Given the description of an element on the screen output the (x, y) to click on. 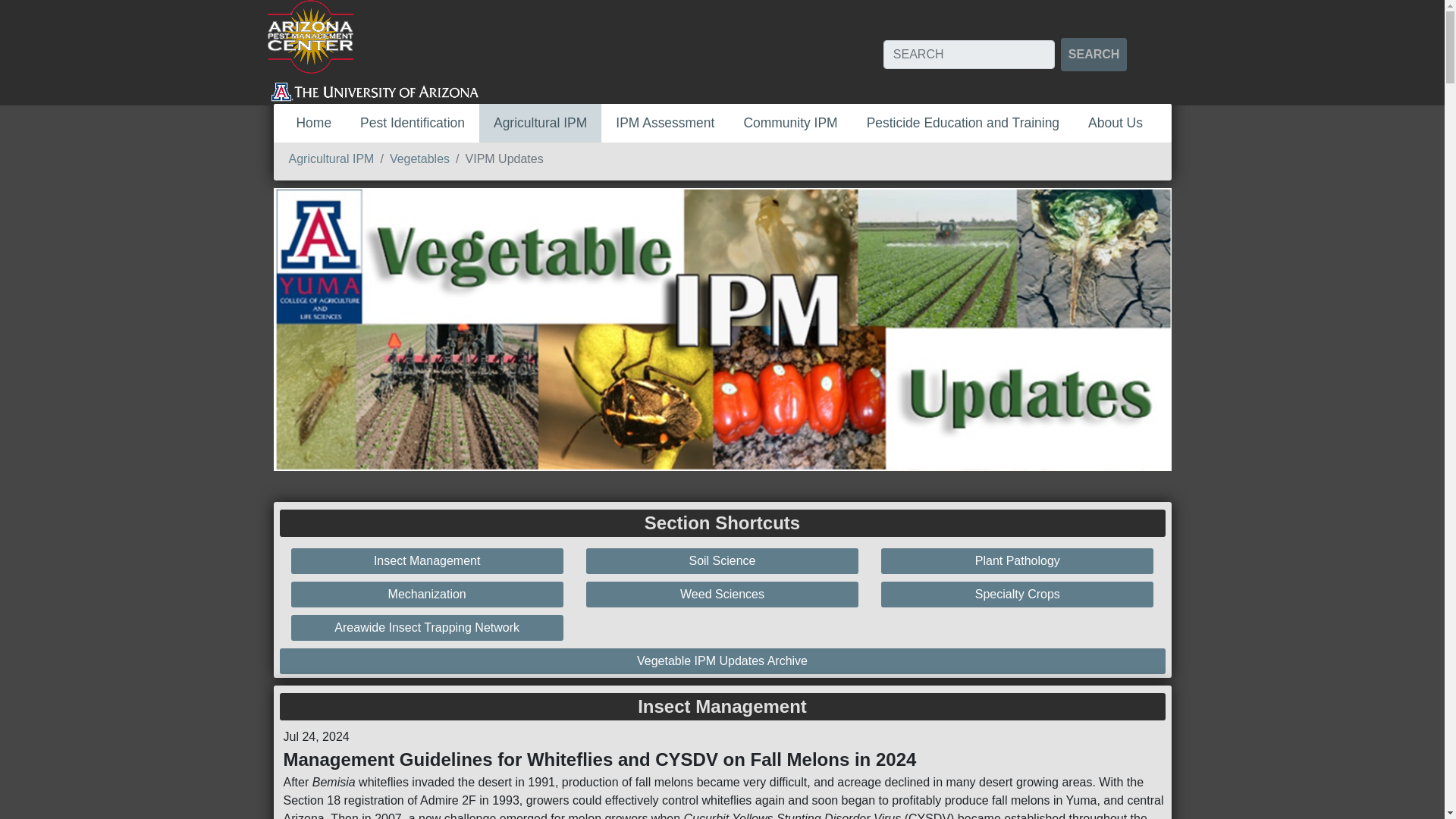
SEARCH (1093, 54)
Search input (968, 54)
